Given the description of an element on the screen output the (x, y) to click on. 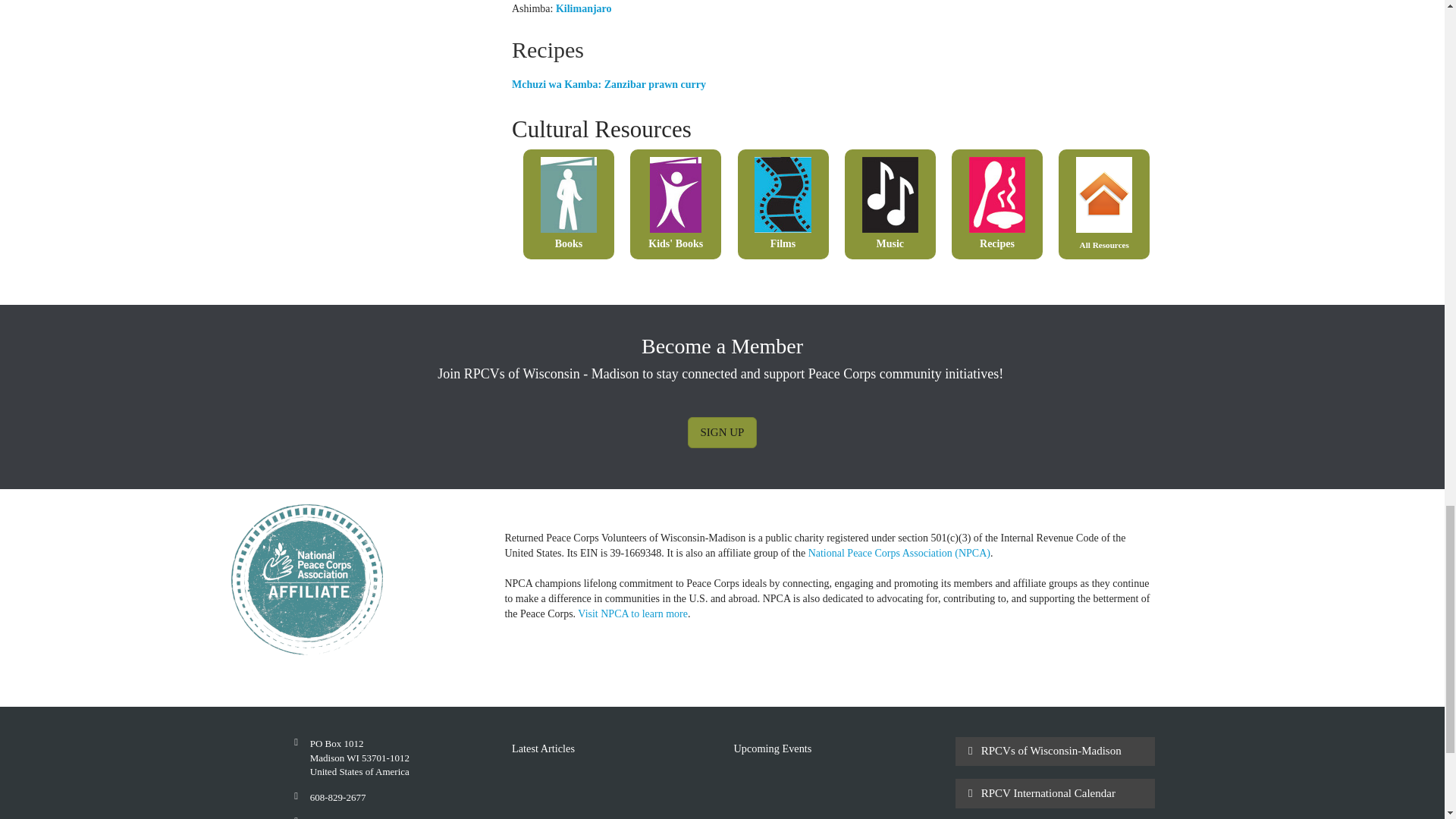
Sign Up (722, 432)
This external link will open in a new window (899, 552)
